Given the description of an element on the screen output the (x, y) to click on. 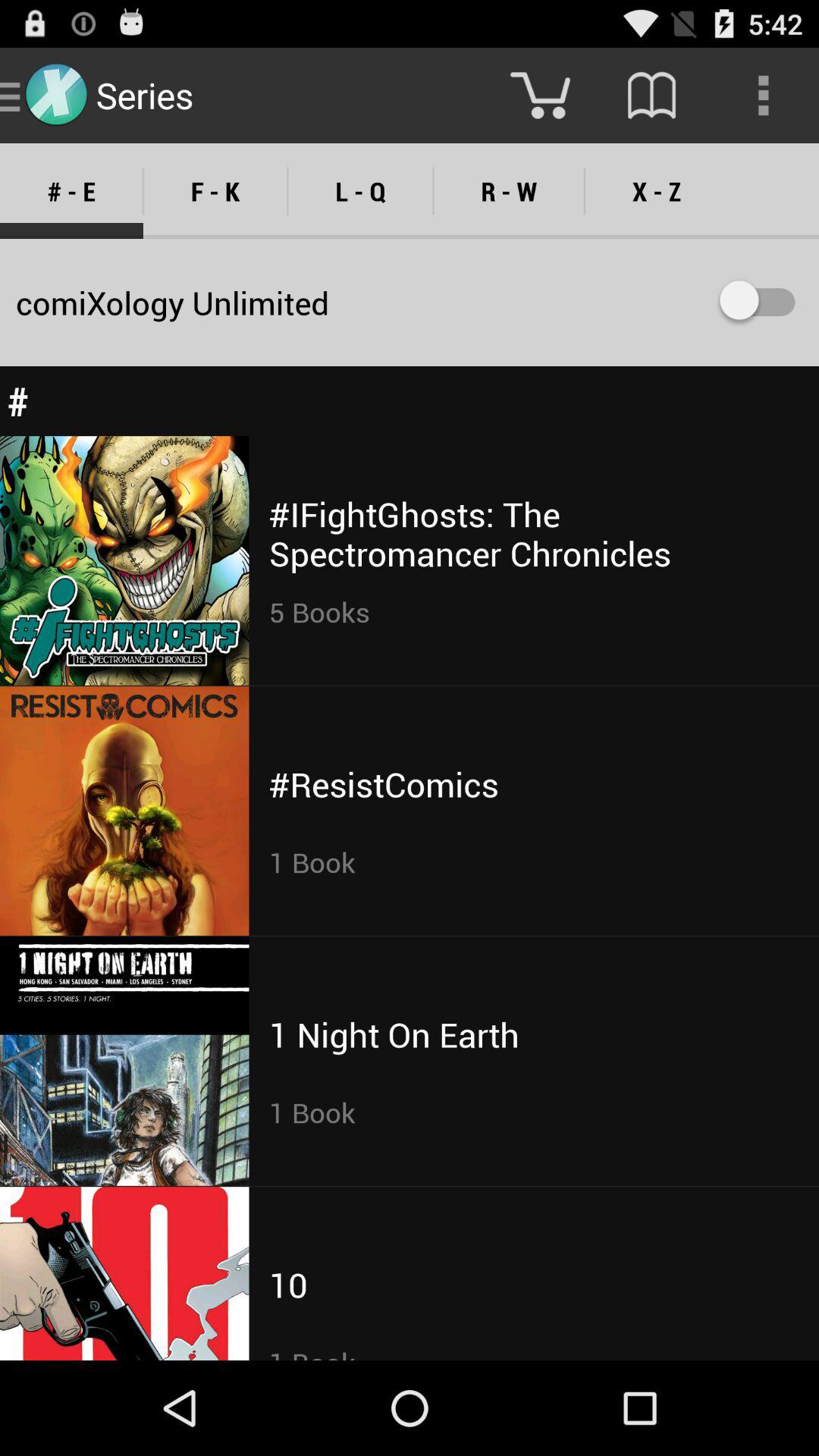
jump to the r - w (508, 190)
